Given the description of an element on the screen output the (x, y) to click on. 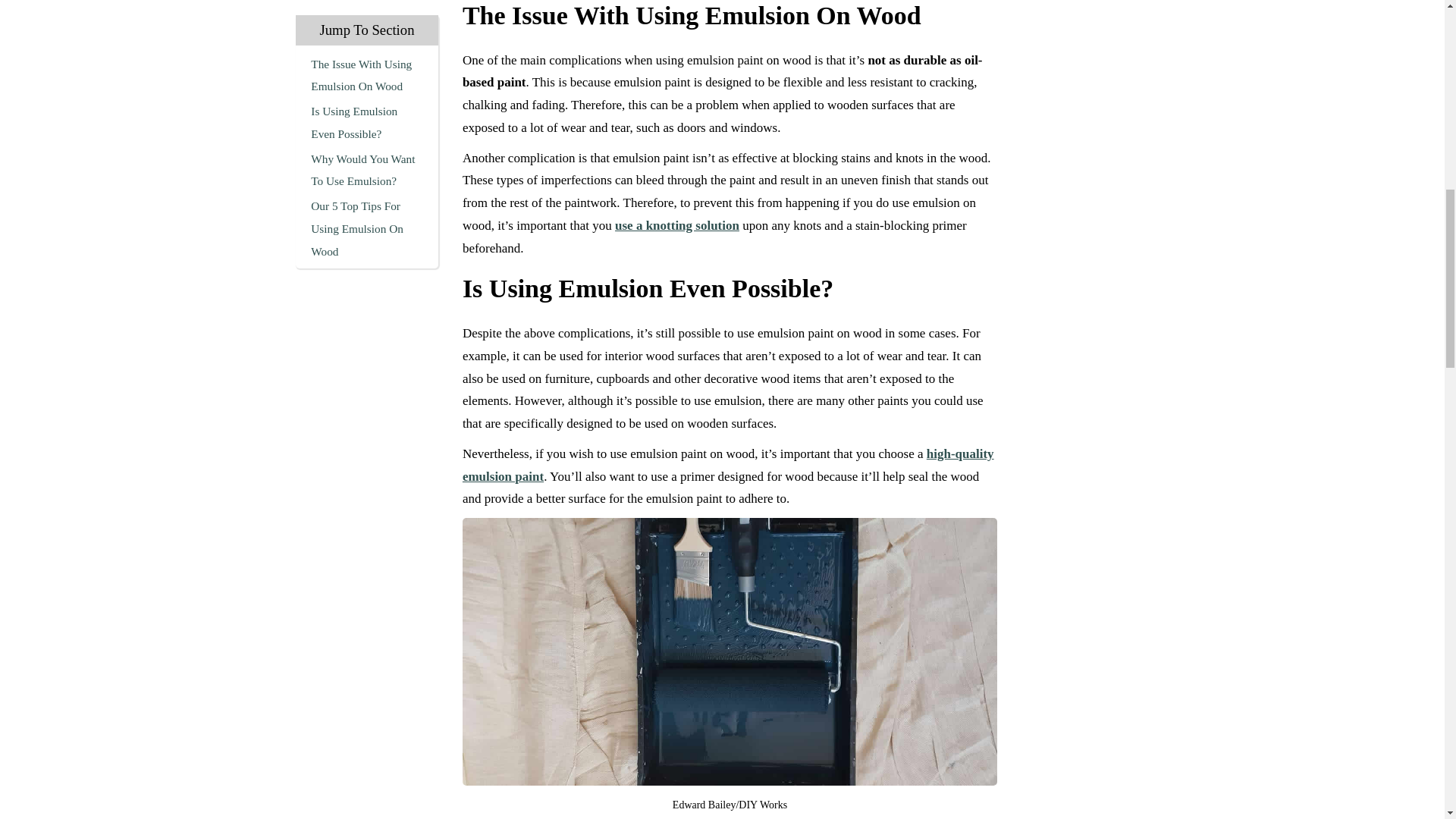
high-quality emulsion paint (728, 465)
use a knotting solution (676, 225)
